Given the description of an element on the screen output the (x, y) to click on. 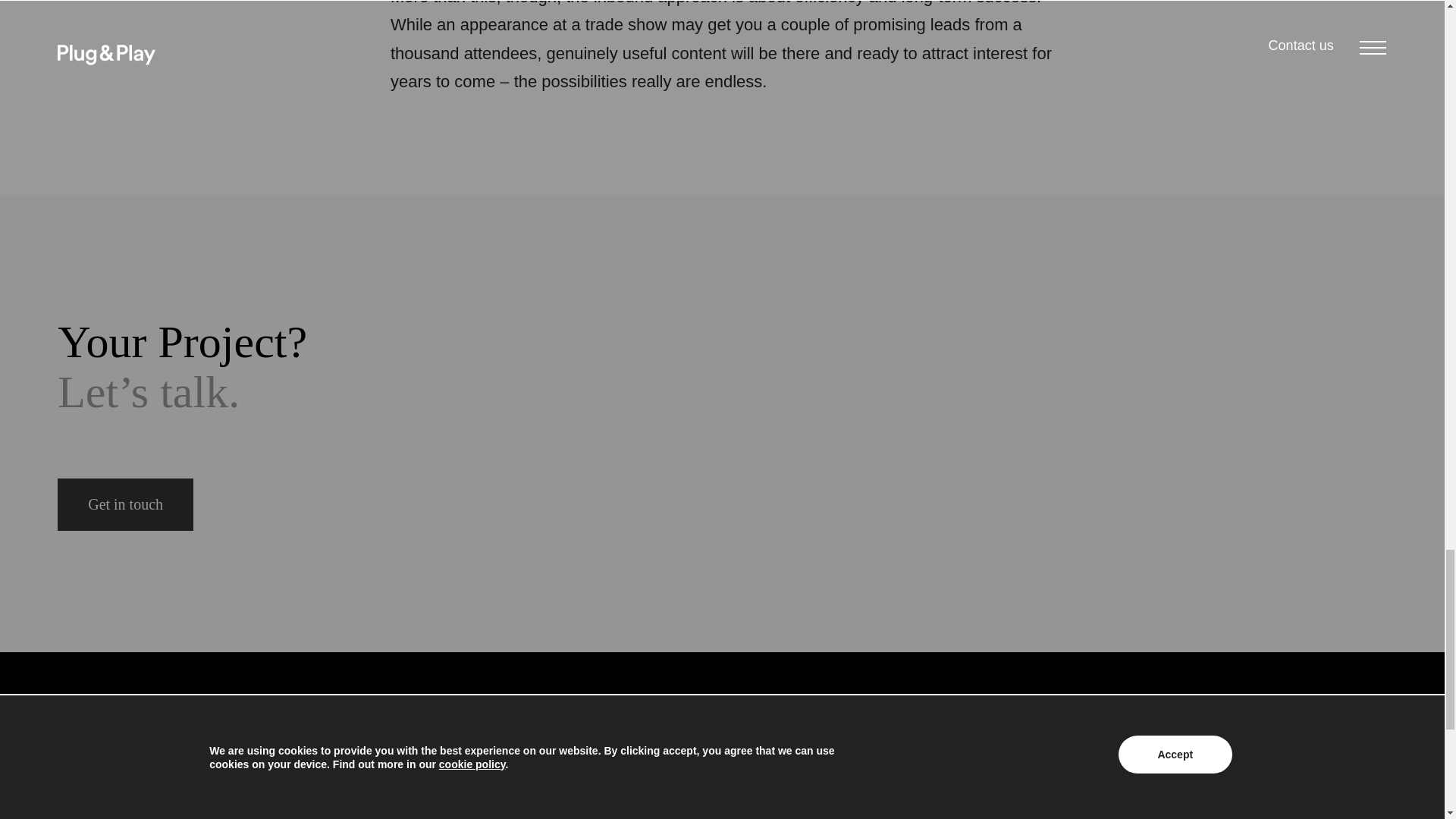
Engage (224, 769)
Get in touch (125, 504)
Careers (224, 746)
App Developers London (224, 811)
UX Design Agency (224, 792)
